Given the description of an element on the screen output the (x, y) to click on. 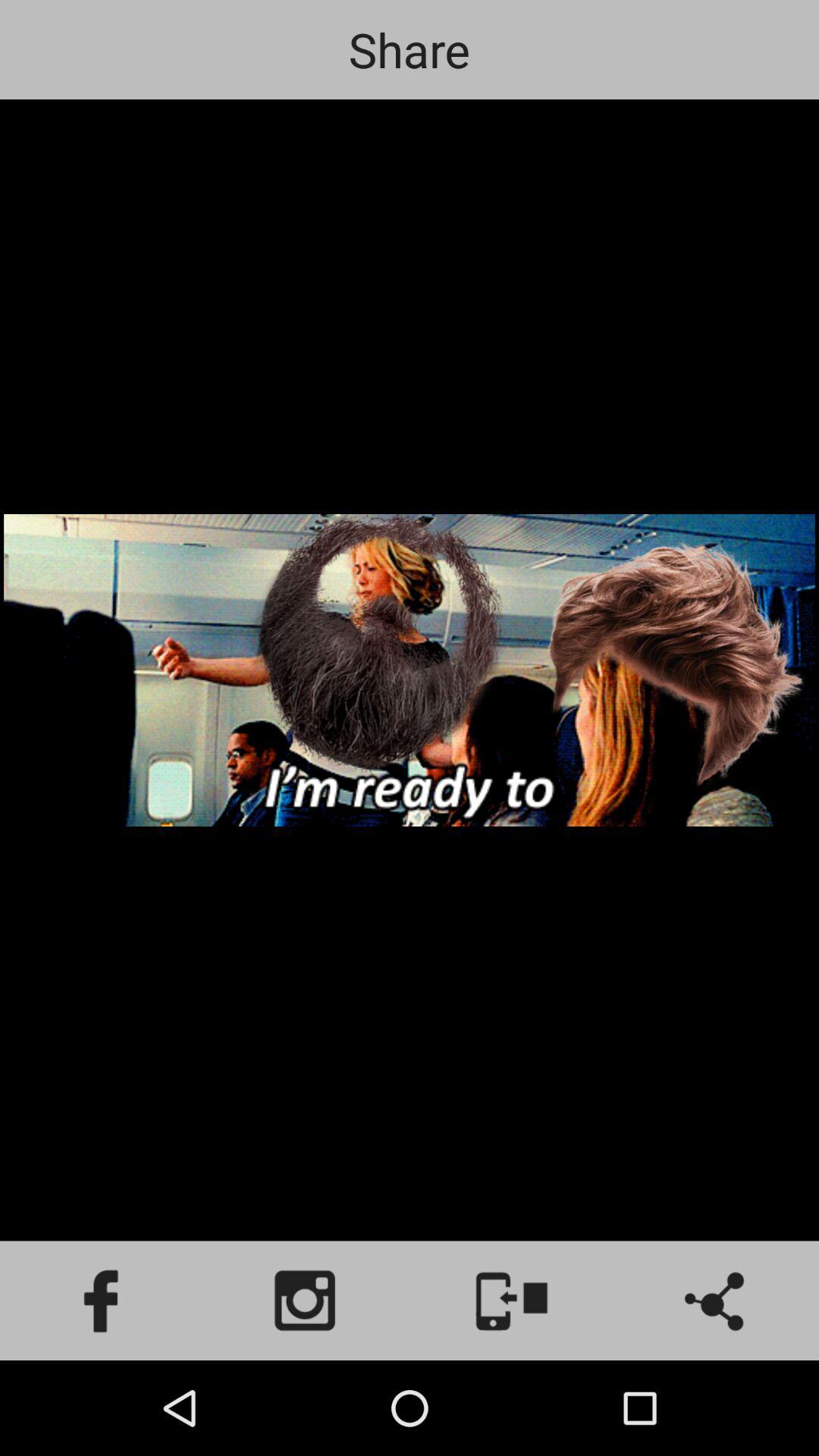
tap item at the bottom left corner (102, 1300)
